Given the description of an element on the screen output the (x, y) to click on. 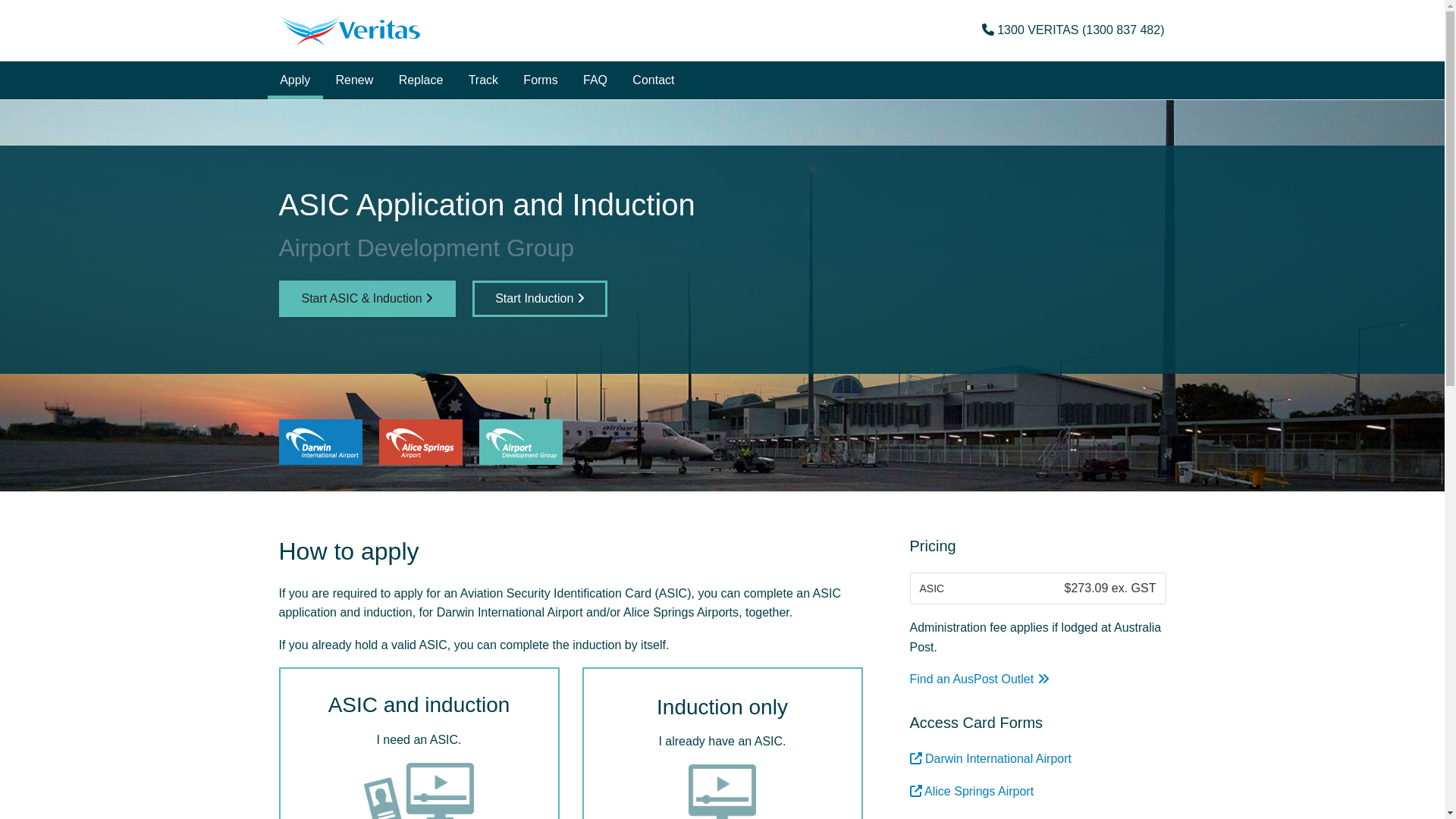
Start ASIC & Induction Element type: text (367, 298)
Track Element type: text (483, 80)
Renew Element type: text (354, 80)
Contact Element type: text (653, 80)
Replace Element type: text (420, 80)
Darwin International Airport Element type: text (990, 758)
Find an AusPost Outlet Element type: text (979, 678)
FAQ Element type: text (594, 80)
Alice Springs Airport Element type: text (972, 790)
Start Induction Element type: text (539, 298)
Forms Element type: text (541, 80)
Apply Element type: text (294, 80)
